Given the description of an element on the screen output the (x, y) to click on. 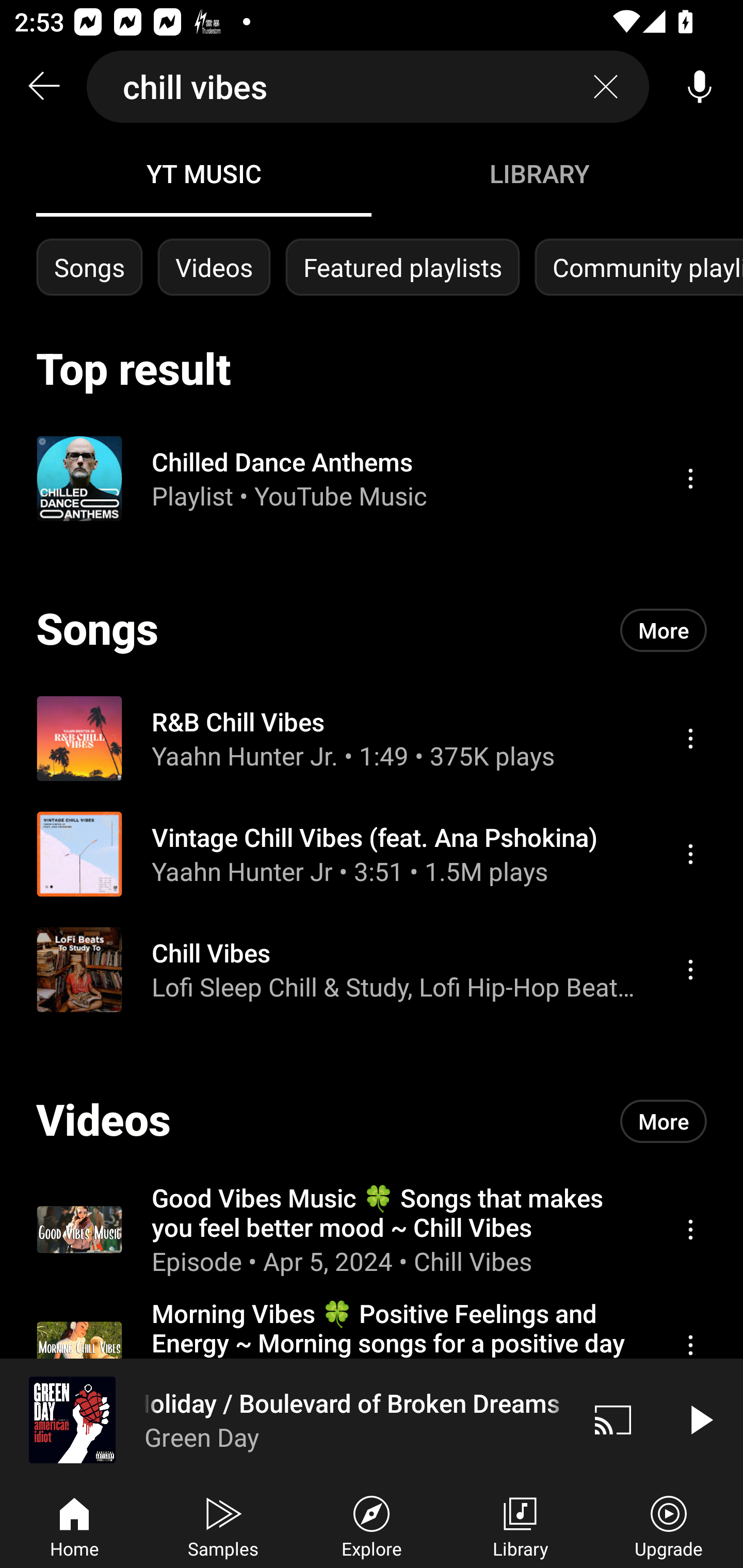
Search back (43, 86)
chill vibes (367, 86)
Clear search (605, 86)
Voice search (699, 86)
Library LIBRARY (538, 173)
Menu (690, 478)
Songs More More (371, 630)
More (663, 630)
Menu (690, 738)
Menu (690, 854)
Menu (690, 968)
Videos More More (371, 1120)
More (663, 1121)
Menu (690, 1229)
Menu (690, 1345)
Holiday / Boulevard of Broken Dreams Green Day (284, 1419)
Cast. Disconnected (612, 1419)
Play video (699, 1419)
Home (74, 1524)
Samples (222, 1524)
Explore (371, 1524)
Library (519, 1524)
Upgrade (668, 1524)
